Given the description of an element on the screen output the (x, y) to click on. 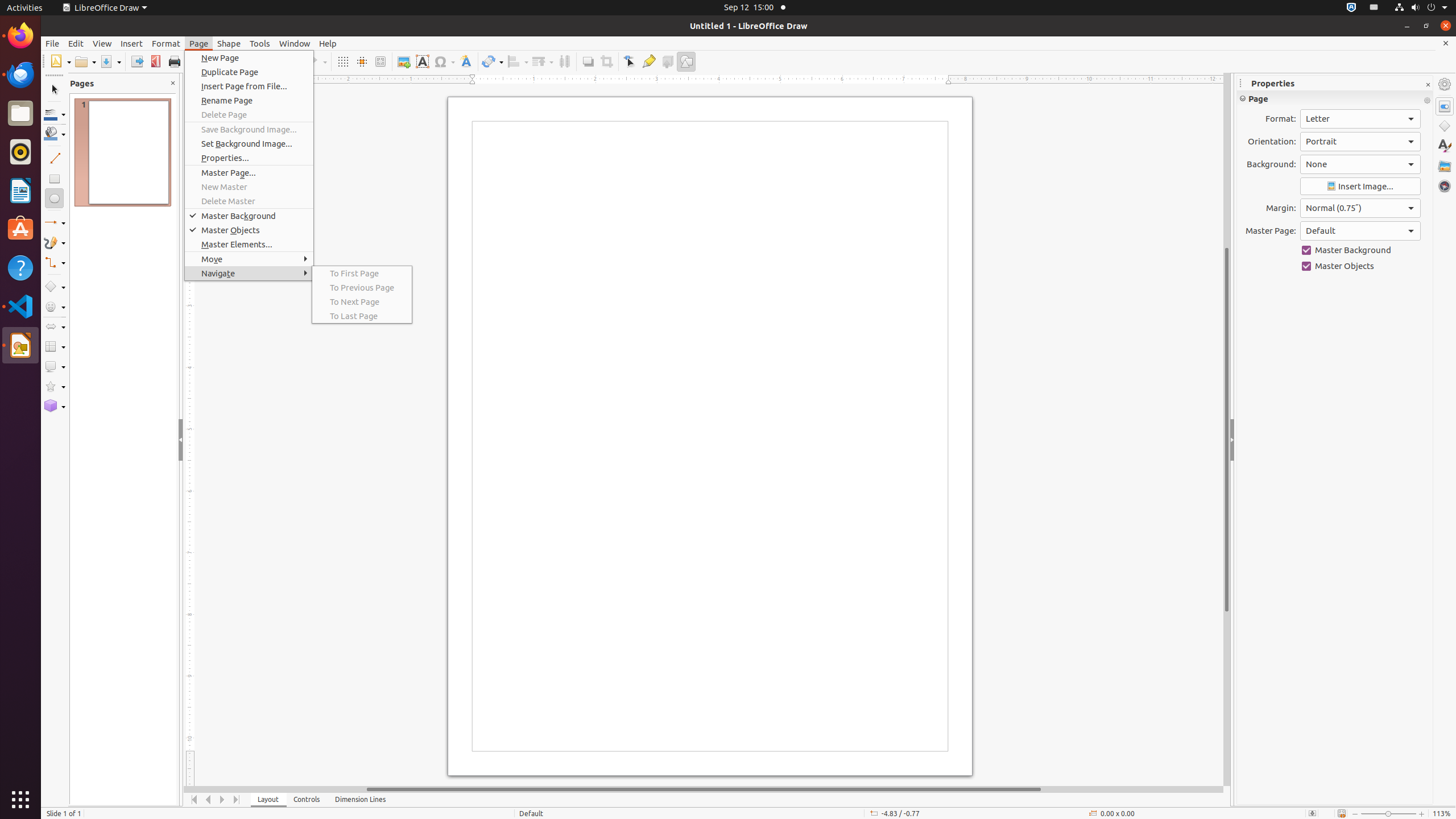
Master Elements... Element type: menu-item (248, 244)
Navigate Element type: menu (248, 273)
New Page Element type: menu-item (248, 57)
Zoom & Pan Element type: push-button (379, 61)
